Given the description of an element on the screen output the (x, y) to click on. 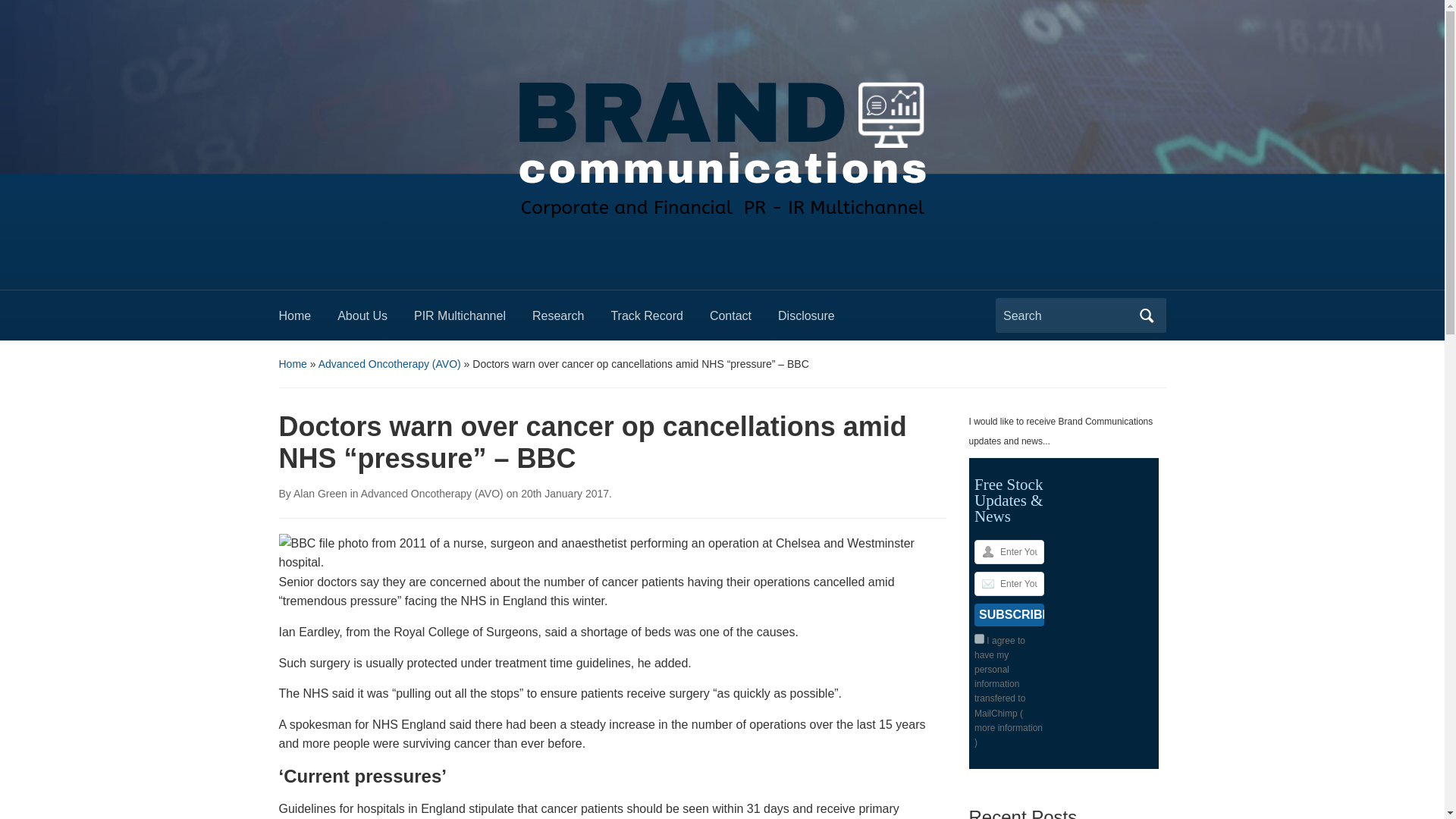
About Us (375, 320)
Track Record (659, 320)
 -  (721, 139)
View all posts by Alan Green (320, 493)
1:55 pm (564, 493)
on (979, 638)
PIR Multichannel (472, 320)
Research (571, 320)
Home (308, 320)
SUBSCRIBE HERE (1008, 614)
